Given the description of an element on the screen output the (x, y) to click on. 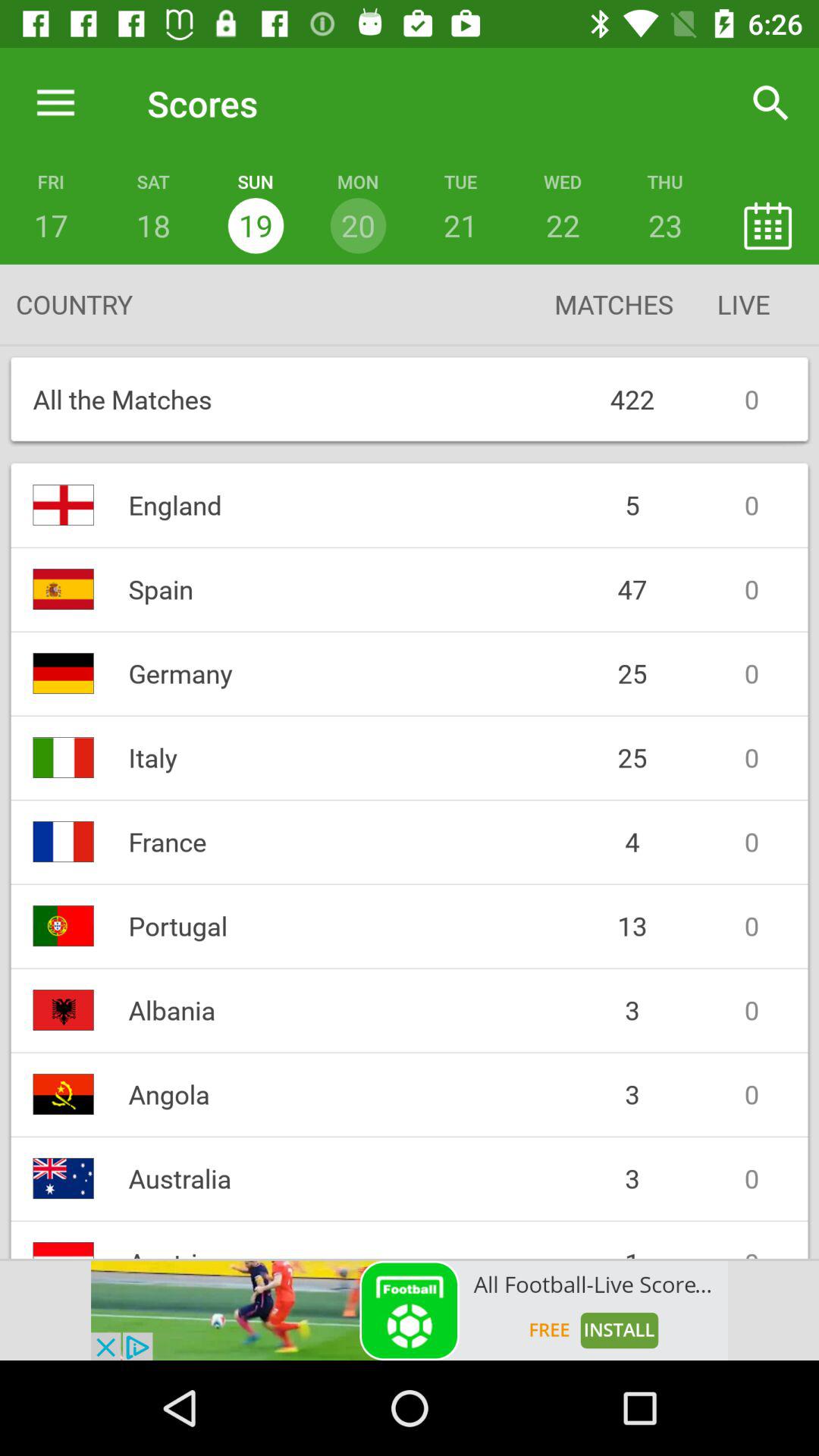
select the flag which is before  angola  (63, 1093)
